Given the description of an element on the screen output the (x, y) to click on. 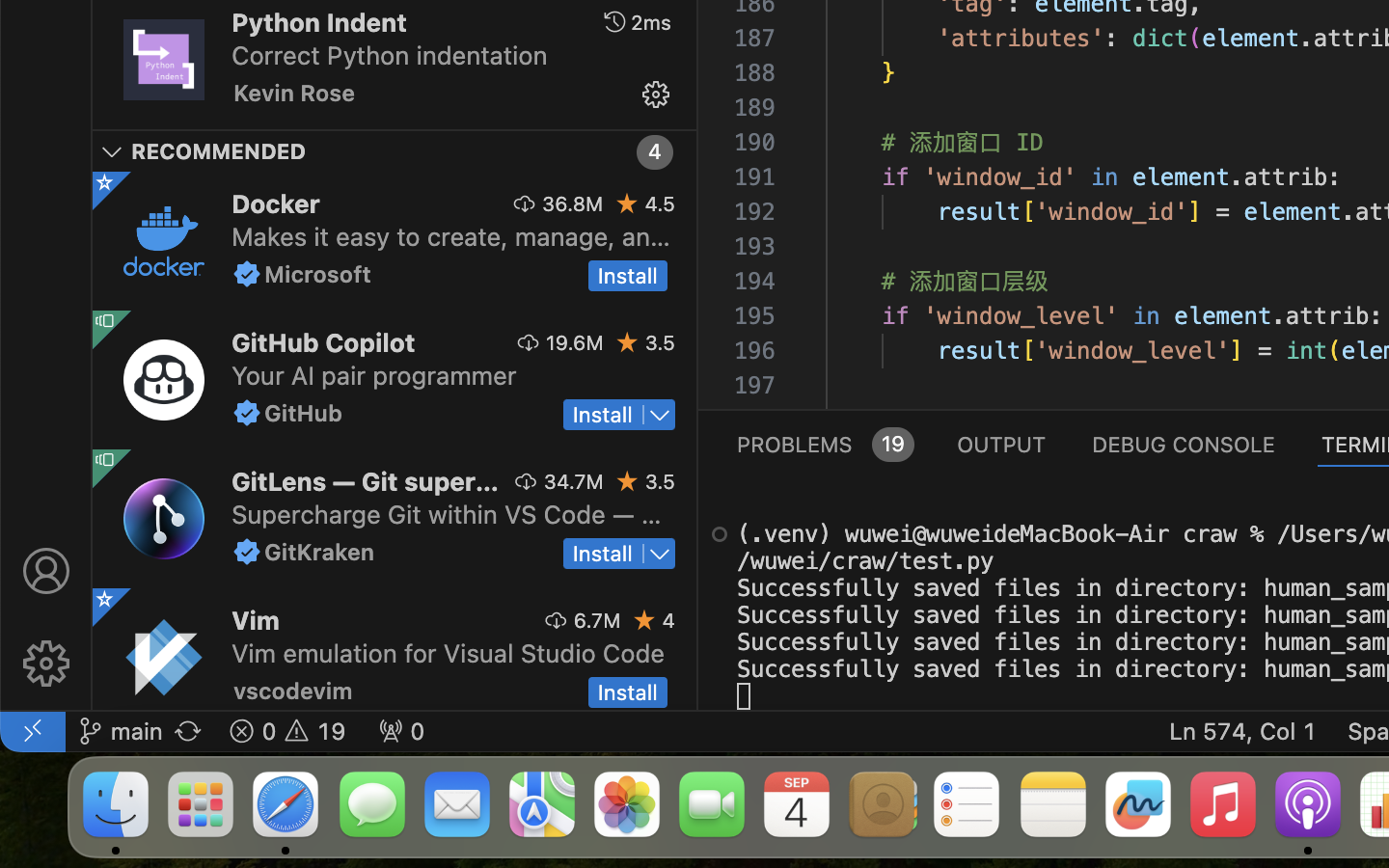
Docker Element type: AXStaticText (275, 203)
main  Element type: AXButton (120, 730)
Makes it easy to create, manage, and debug containerized applications. Element type: AXStaticText (451, 235)
Kevin Rose Element type: AXStaticText (294, 92)
0 DEBUG CONSOLE Element type: AXRadioButton (1183, 443)
